Given the description of an element on the screen output the (x, y) to click on. 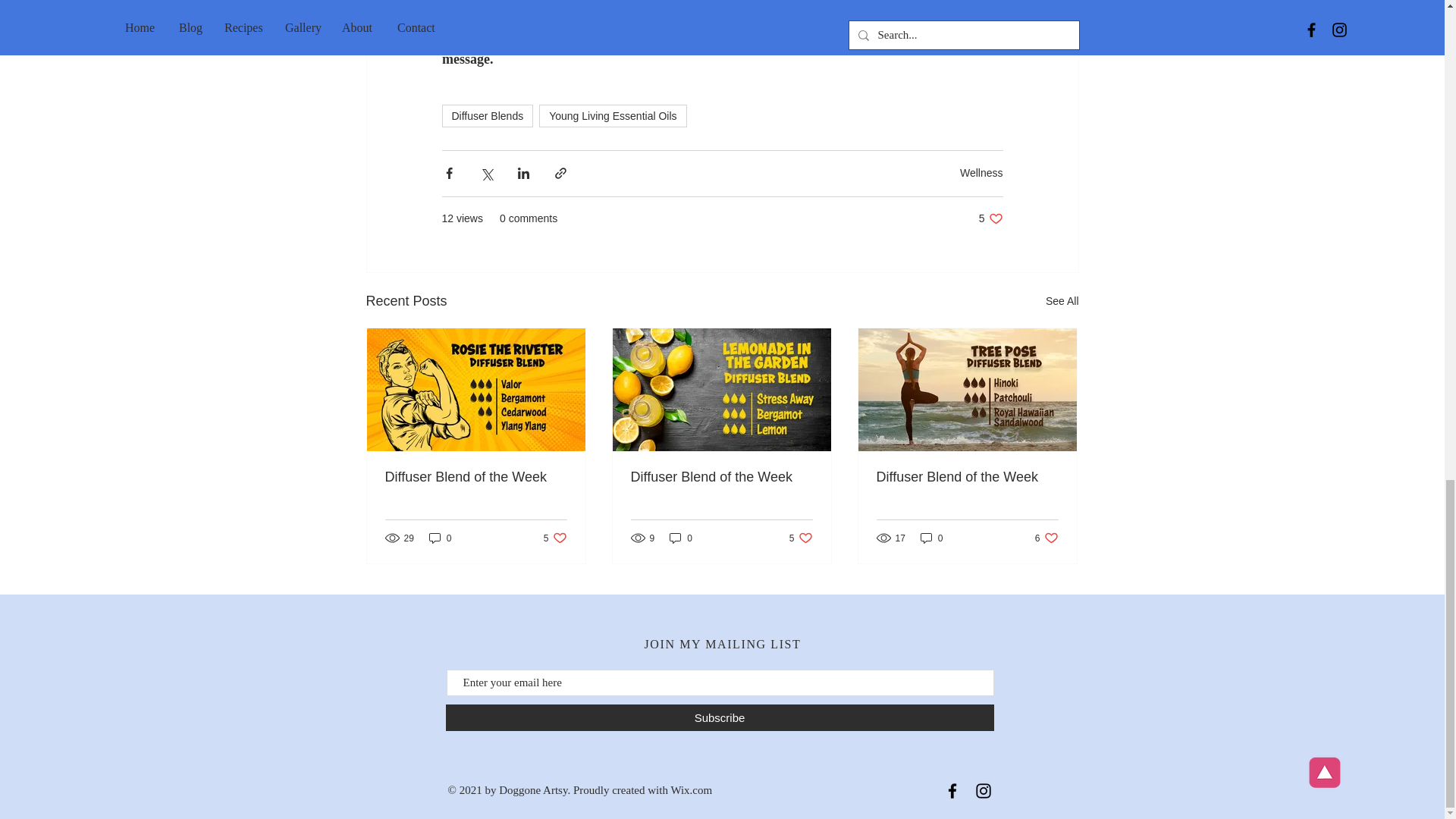
Young Living Essential Oils (611, 115)
See All (1061, 301)
Wellness (981, 173)
Diffuser Blends (486, 115)
Diffuser Blend of the Week (476, 477)
Diffuser Blend of the Week (721, 477)
0 (681, 537)
0 (440, 537)
here (555, 537)
